Given the description of an element on the screen output the (x, y) to click on. 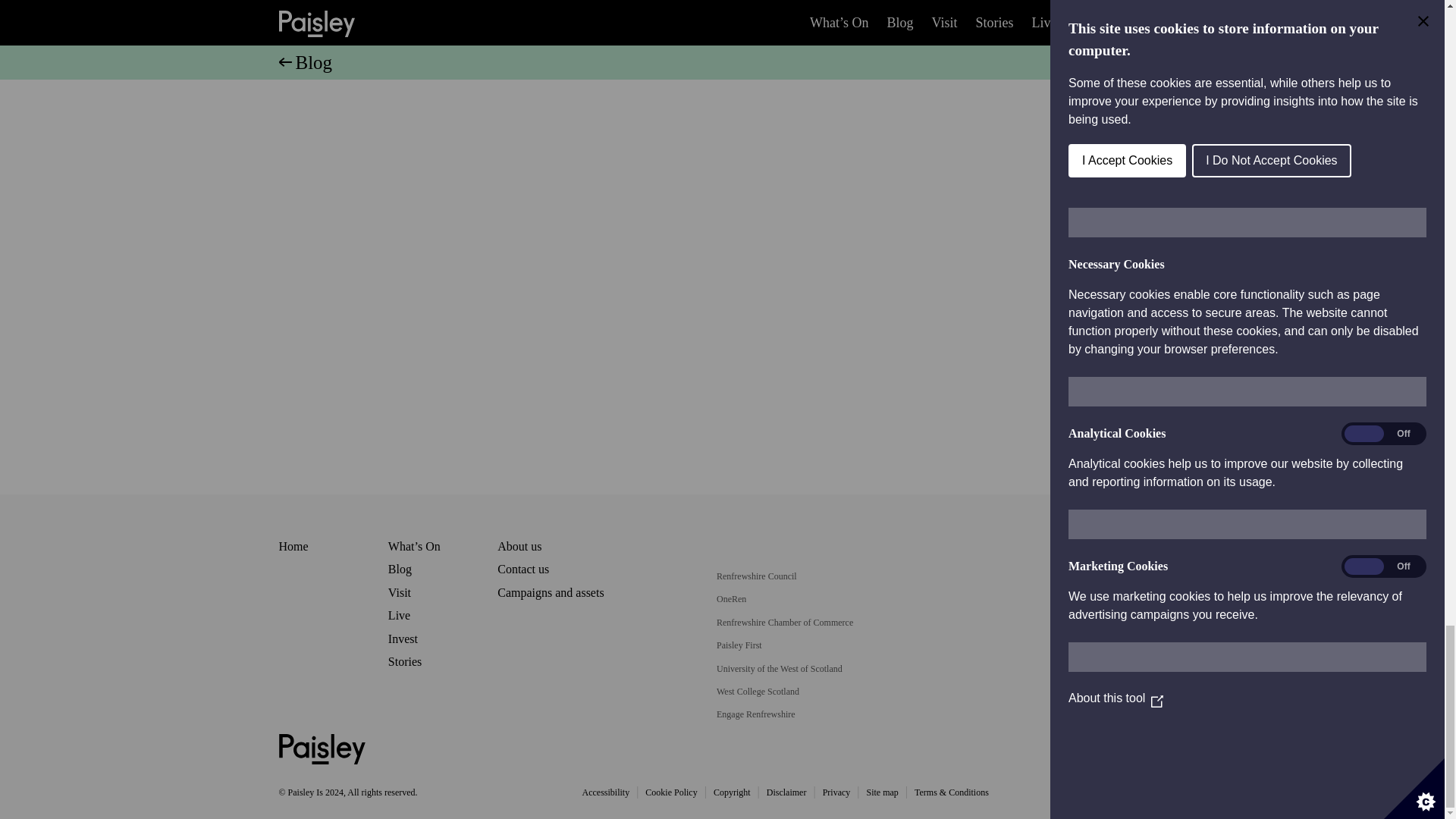
Invest (402, 638)
Visit (399, 592)
Live (399, 615)
Blog (400, 568)
Home (293, 545)
